Given the description of an element on the screen output the (x, y) to click on. 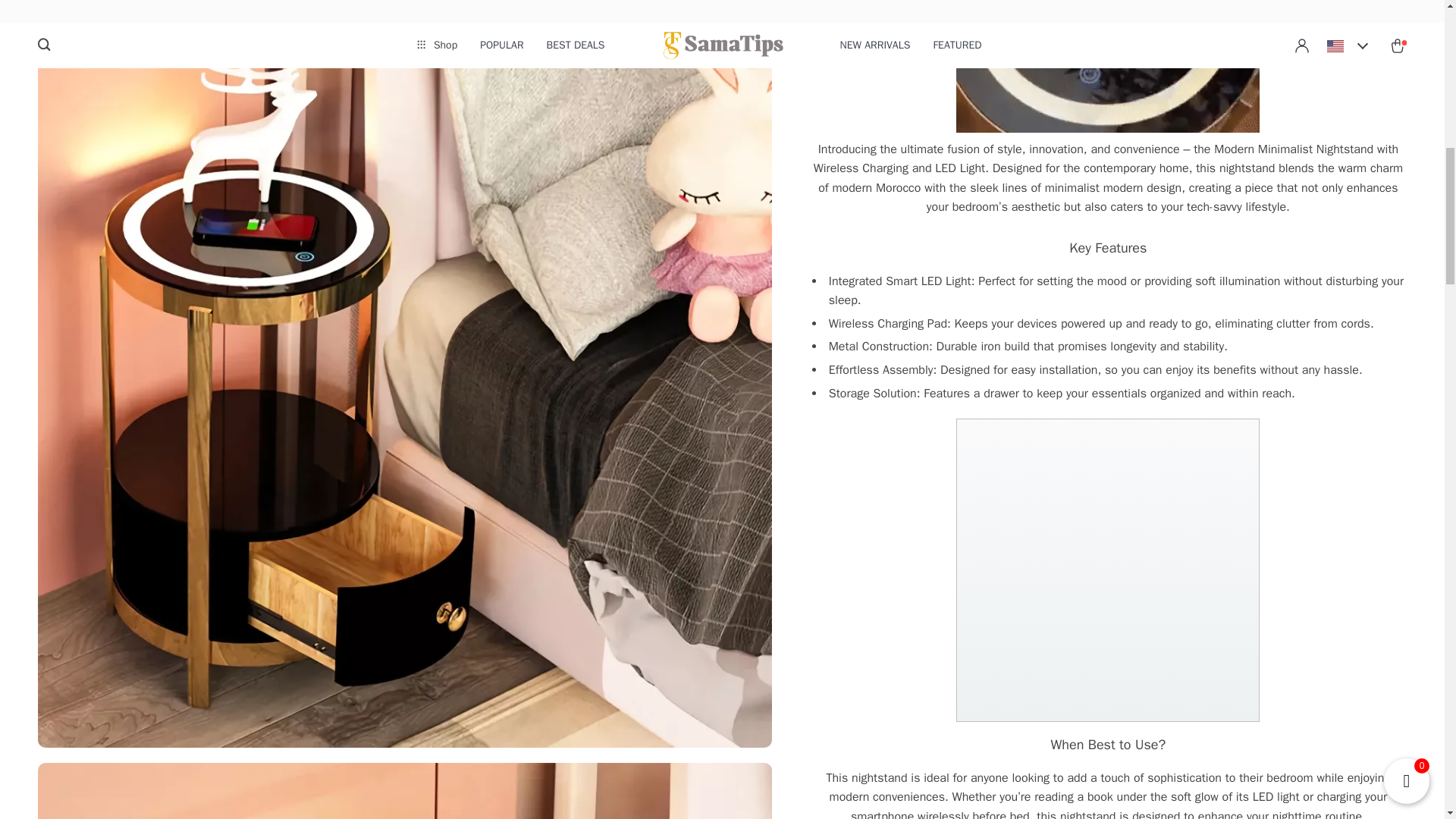
172972-25bb1c.webp (404, 790)
1 (1107, 66)
2 (1107, 569)
